Given the description of an element on the screen output the (x, y) to click on. 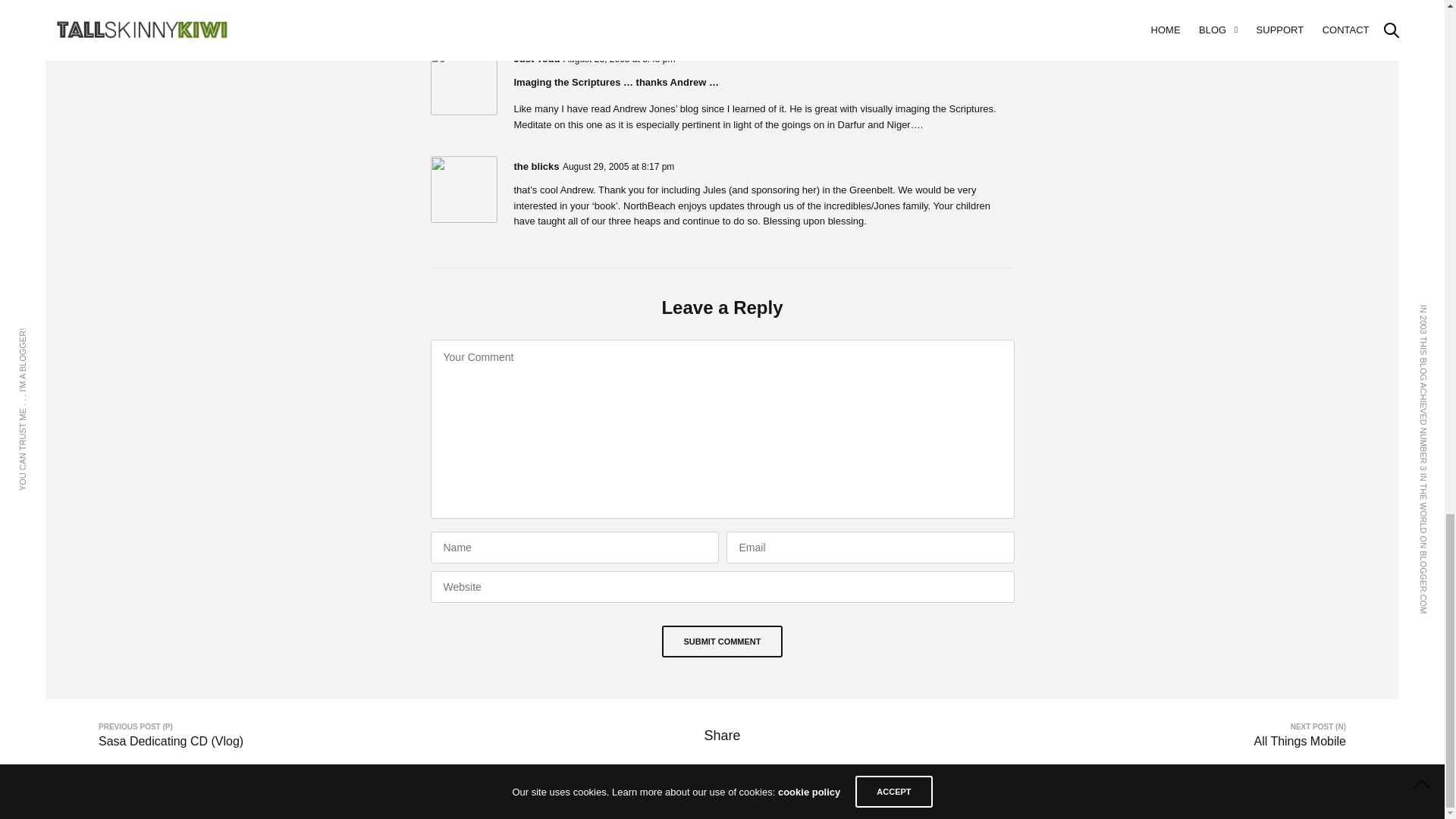
August 29, 2005 at 8:17 pm (618, 166)
Share (721, 735)
Just Todd (536, 58)
Submit Comment (721, 641)
Submit Comment (721, 641)
August 23, 2005 at 3:48 pm (619, 59)
